Given the description of an element on the screen output the (x, y) to click on. 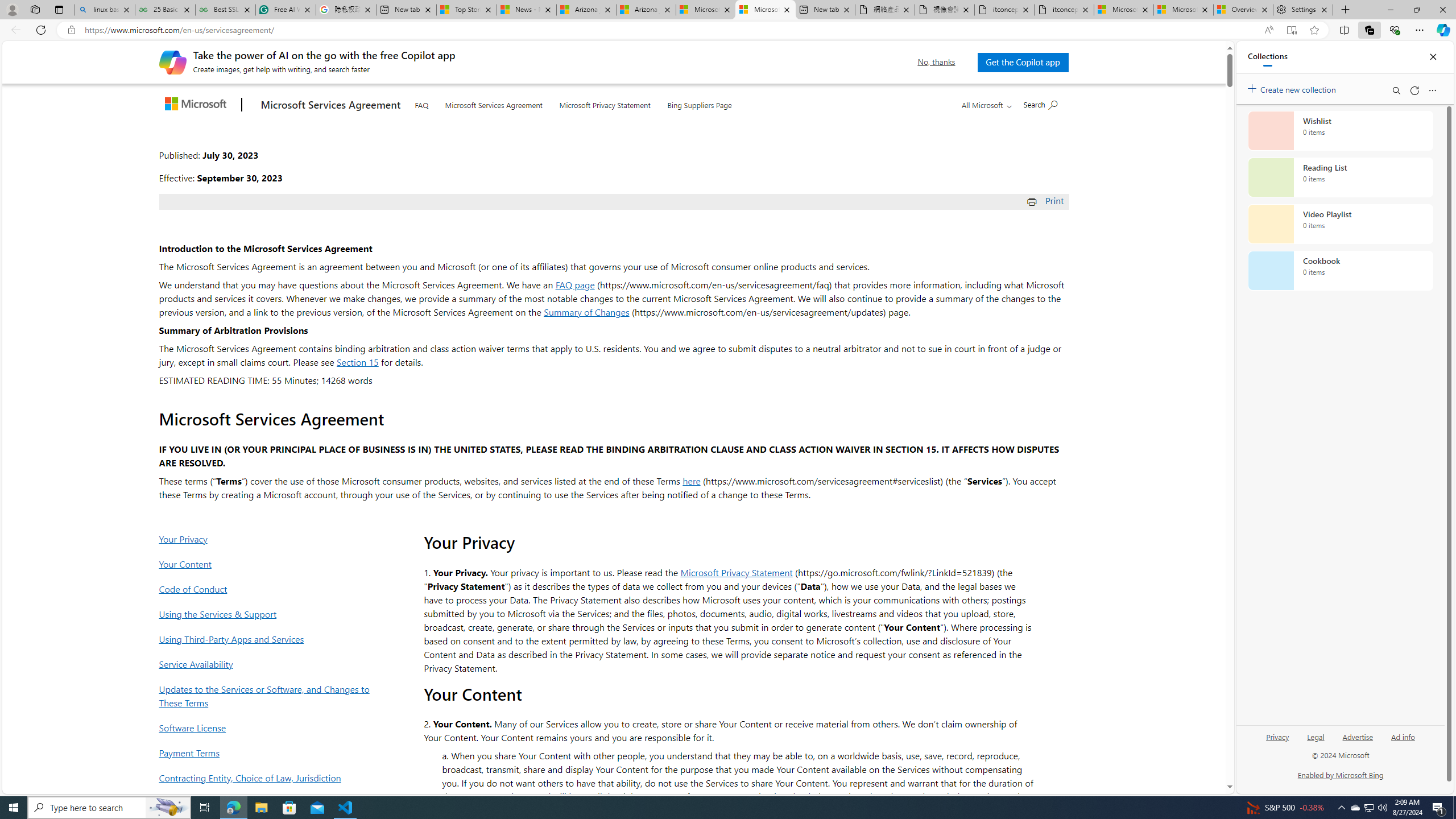
FAQ (421, 103)
itconcepthk.com/projector_solutions.mp4 (1064, 9)
Wishlist collection, 0 items (1339, 130)
Code of Conduct (267, 588)
Software License (267, 727)
Search Microsoft.com (1039, 103)
Create new collection (1293, 87)
